Given the description of an element on the screen output the (x, y) to click on. 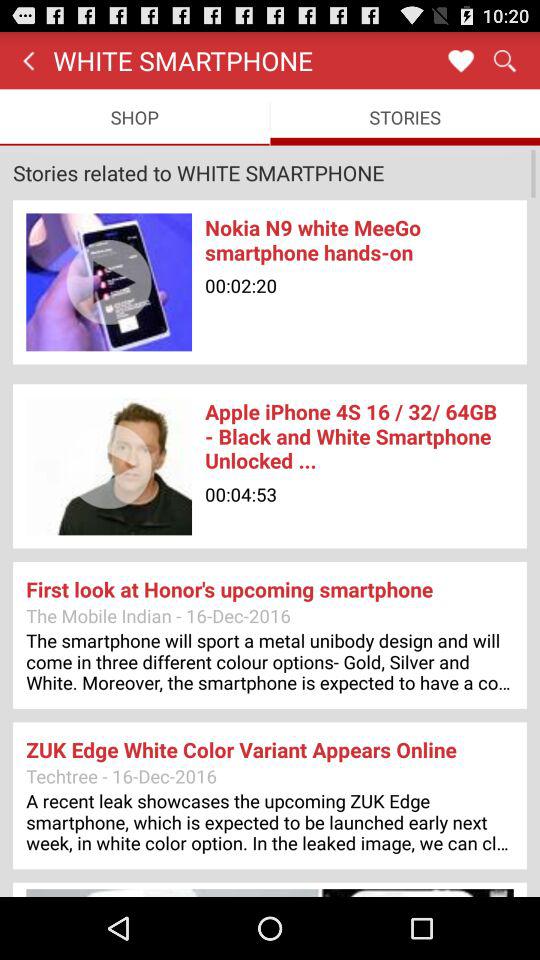
search area (504, 60)
